Given the description of an element on the screen output the (x, y) to click on. 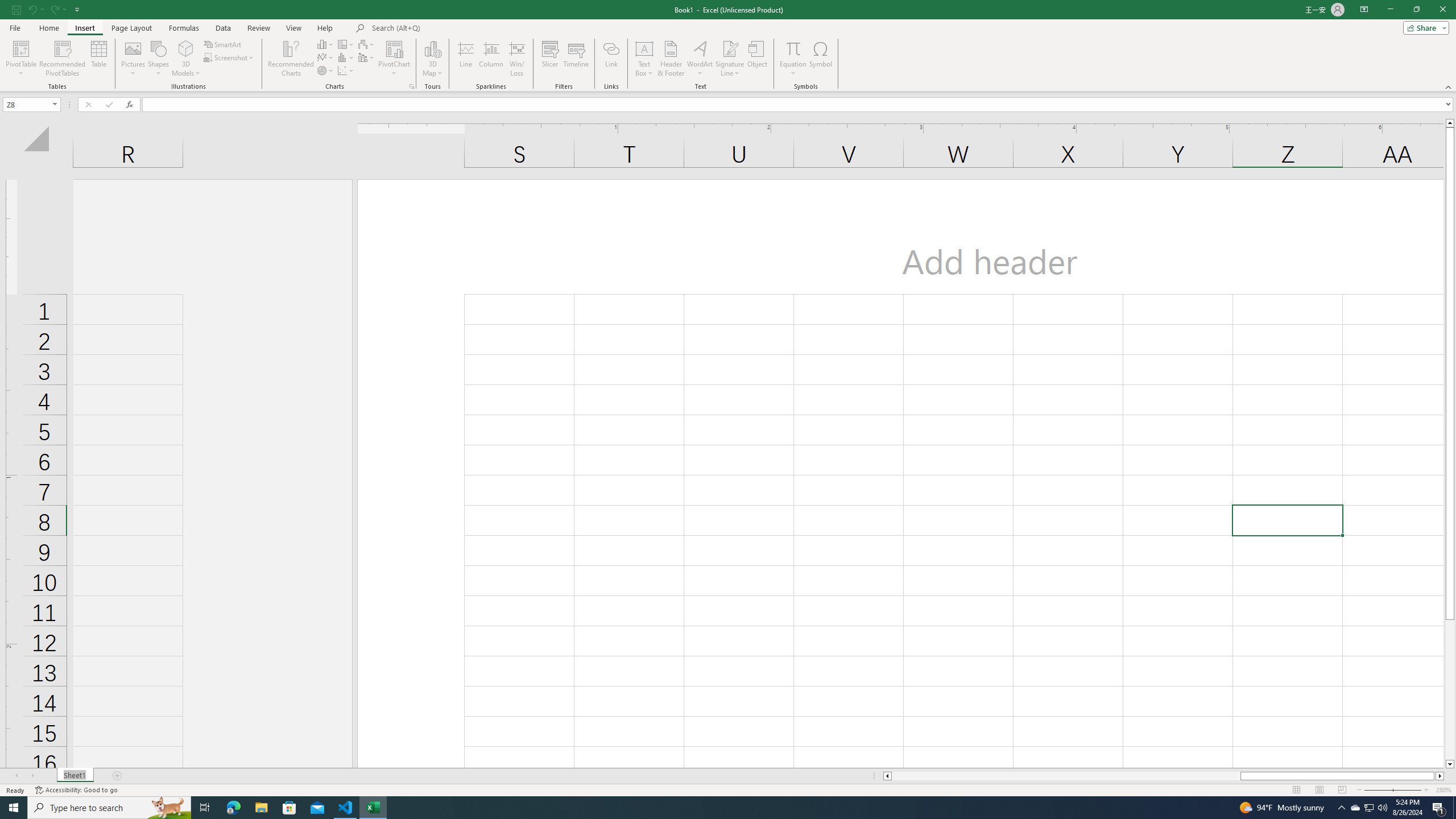
Timeline (575, 58)
Table (98, 58)
PivotTable (20, 48)
Shapes (158, 58)
Recommended PivotTables (62, 58)
3D Map (432, 48)
Insert Column or Bar Chart (325, 44)
Column (491, 58)
